Given the description of an element on the screen output the (x, y) to click on. 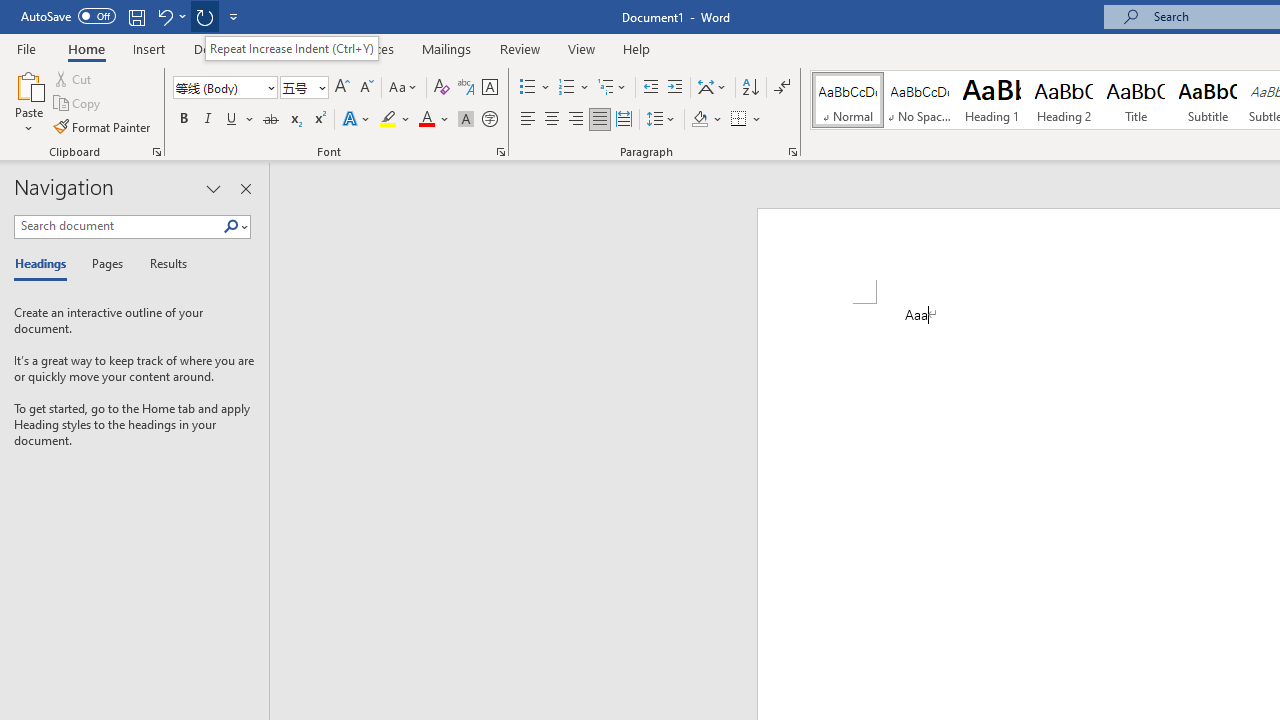
Subtitle (1208, 100)
